Given the description of an element on the screen output the (x, y) to click on. 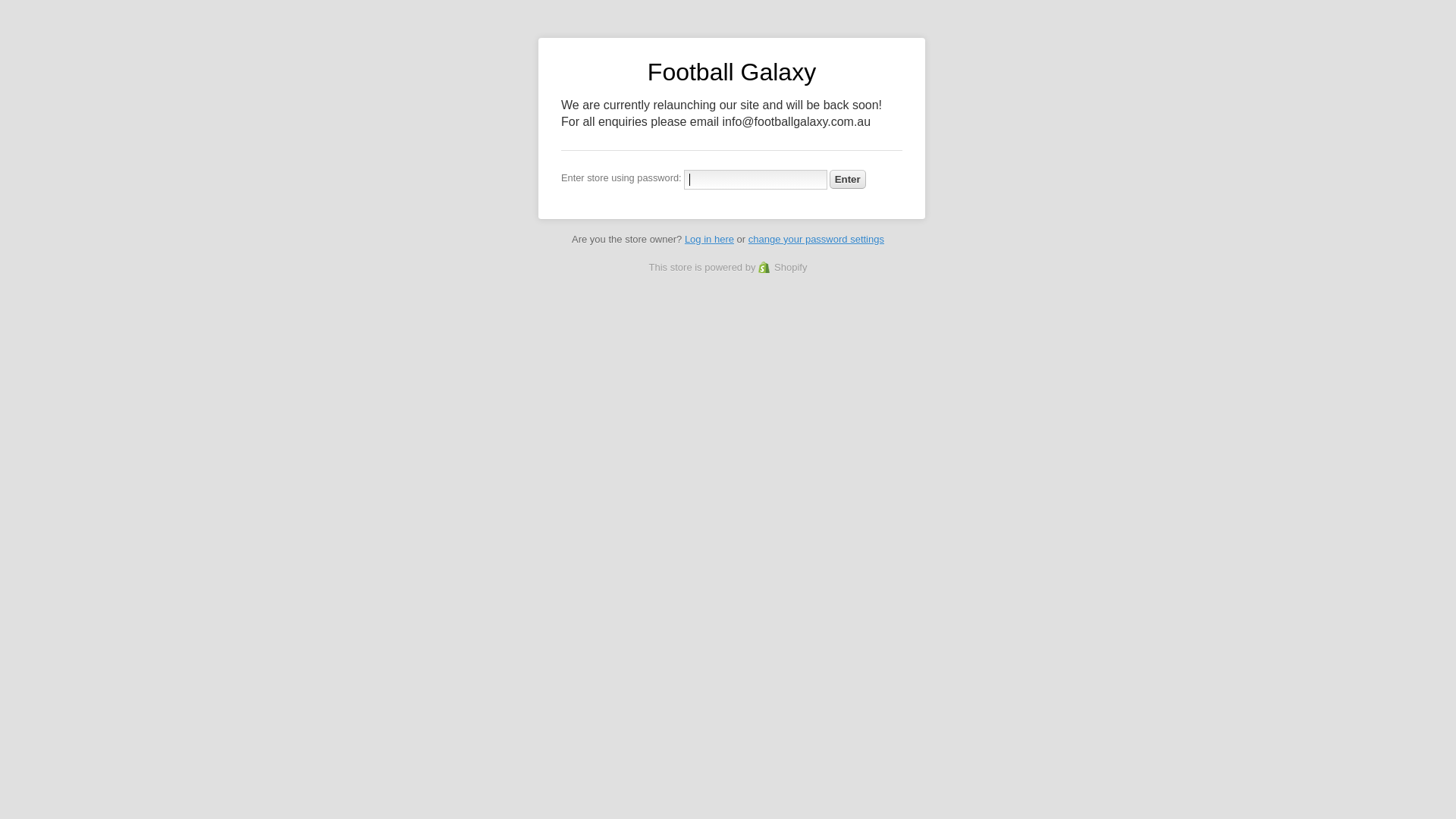
Shopify Element type: text (782, 267)
change your password settings Element type: text (816, 238)
Enter Element type: text (847, 178)
Log in here Element type: text (709, 238)
